Given the description of an element on the screen output the (x, y) to click on. 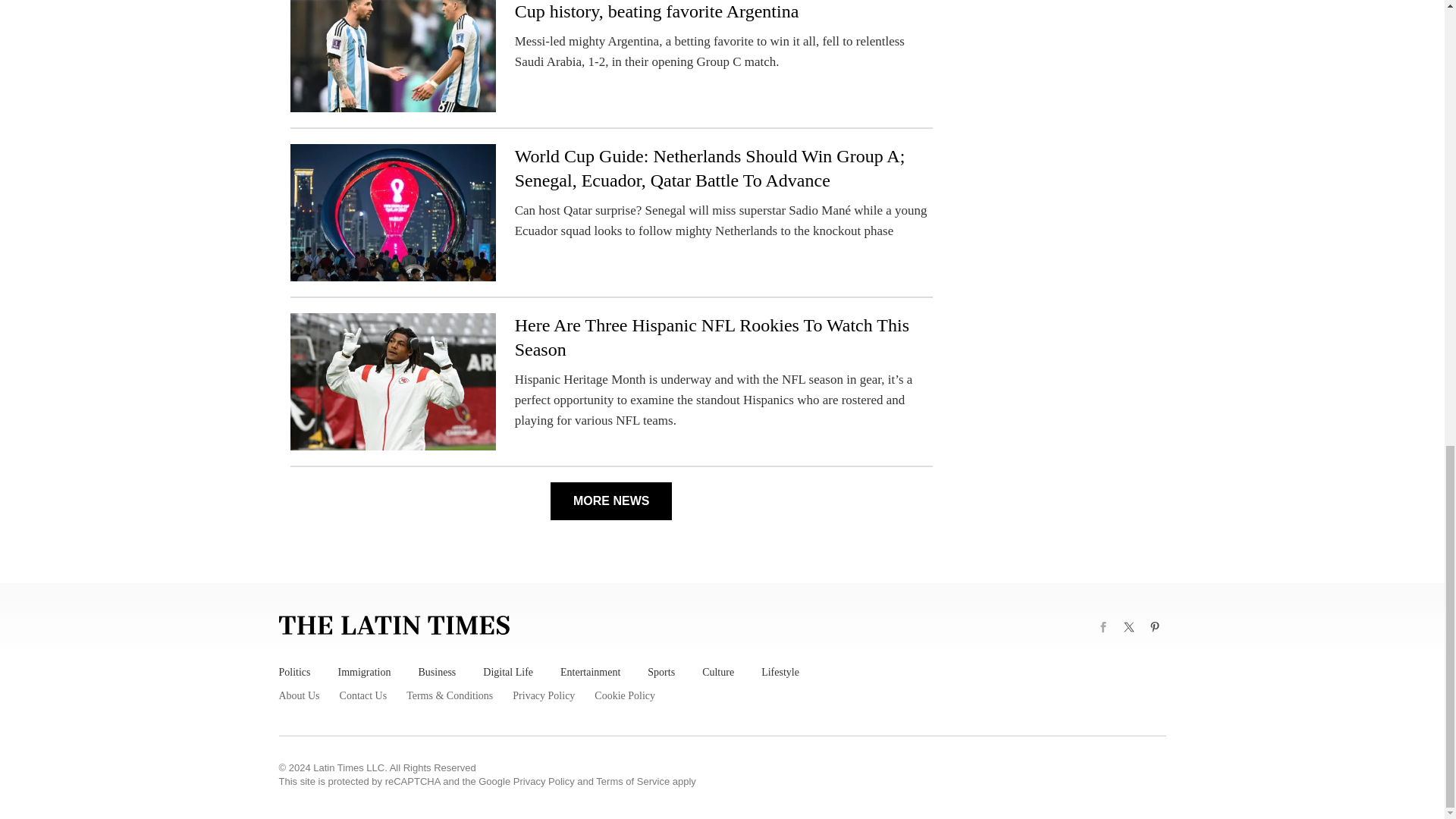
Pinterest (1154, 626)
MORE NEWS (610, 501)
Facebook (1103, 626)
Twitter (1129, 626)
Politics (295, 672)
Here Are Three Hispanic NFL Rookies To Watch This Season (711, 337)
Immigration (364, 672)
